Given the description of an element on the screen output the (x, y) to click on. 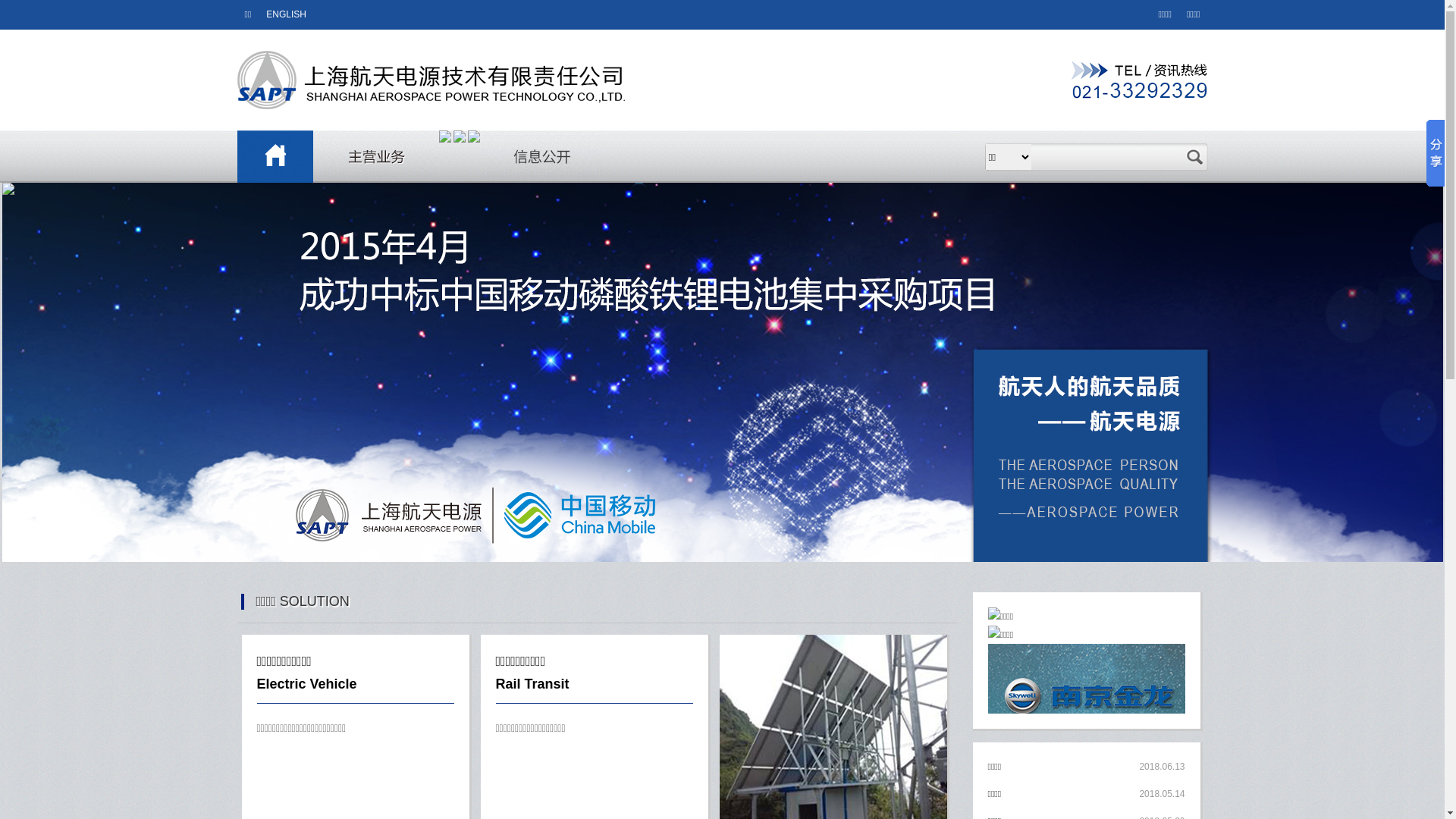
Electric Vehicle Element type: text (306, 683)
ENGLISH Element type: text (286, 14)
Rail Transit Element type: text (532, 683)
